Given the description of an element on the screen output the (x, y) to click on. 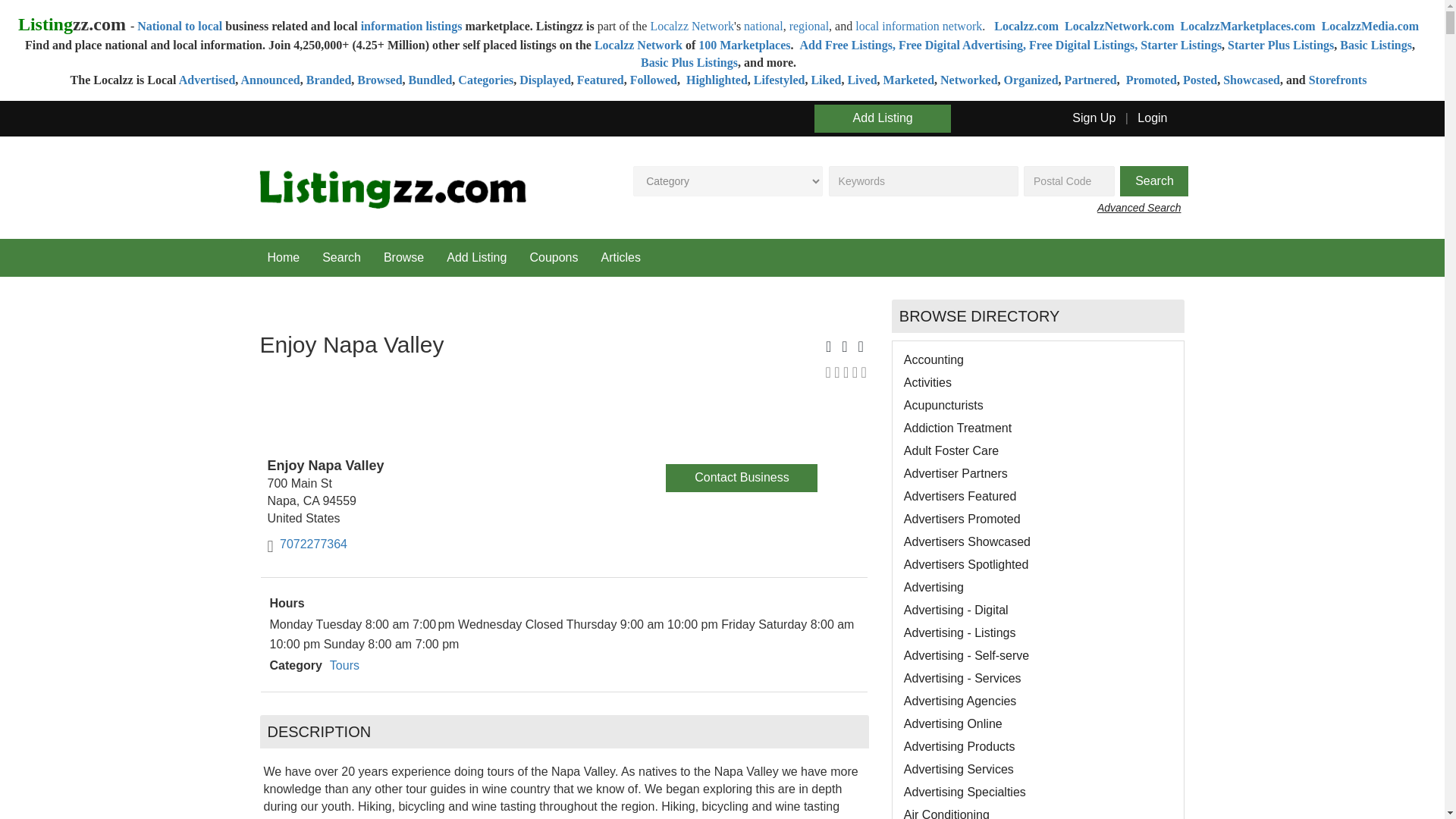
Branded (328, 79)
Free Digital Advertising, (963, 44)
100 Marketplaces (744, 44)
Displayed (544, 79)
Basic Plus Listings (689, 62)
Starter Listings (1180, 44)
Networked (968, 79)
Categories (485, 79)
Followed (653, 79)
 Highlighted (715, 79)
